Given the description of an element on the screen output the (x, y) to click on. 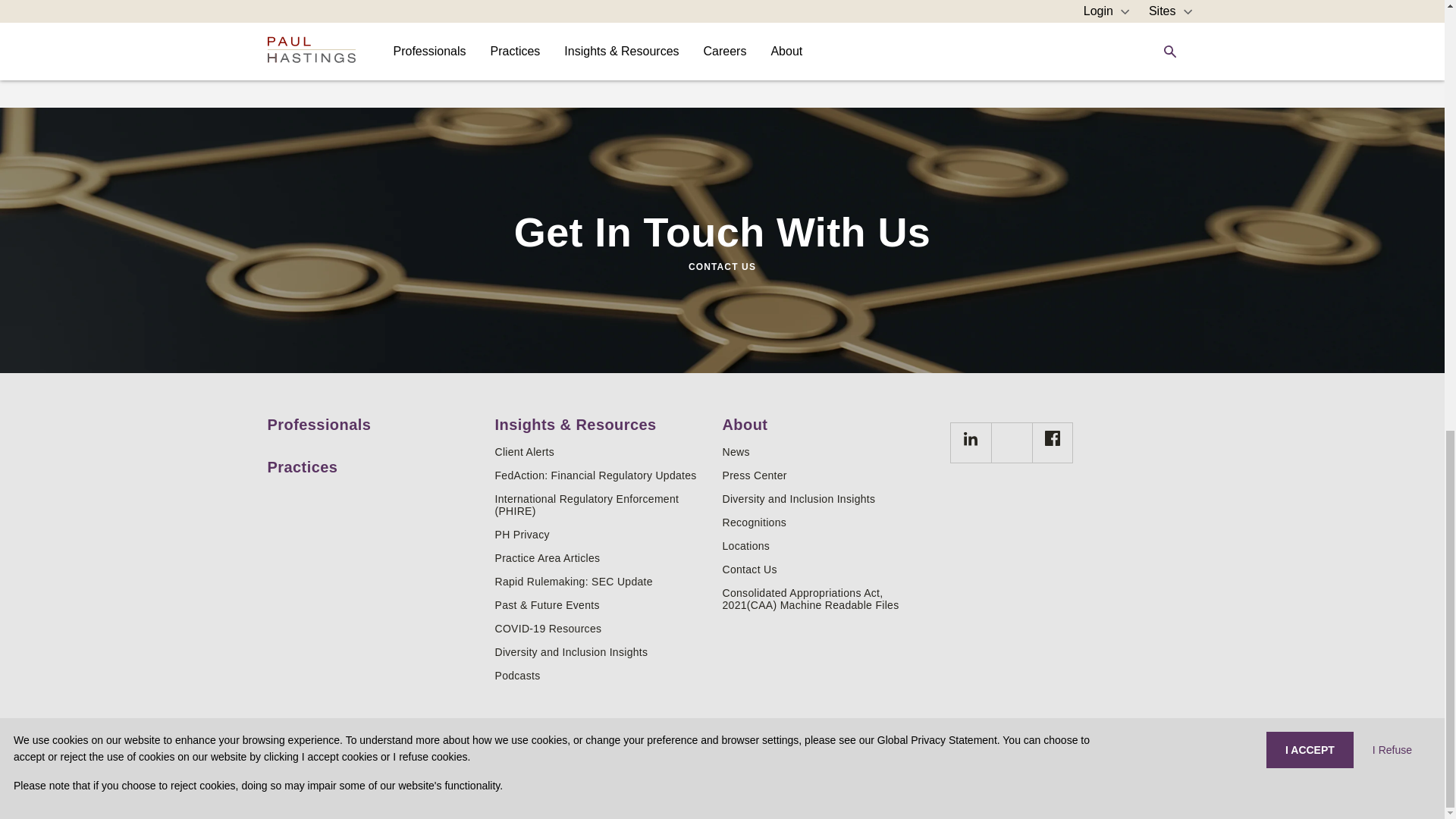
CB6A0679-7CD4-47AB-9AF9-079521319001Created with sketchtool. (969, 438)
BC42128A-F0DE-4FE2-9372-6CDE6D4F5957Created with sketchtool. (1052, 437)
